Given the description of an element on the screen output the (x, y) to click on. 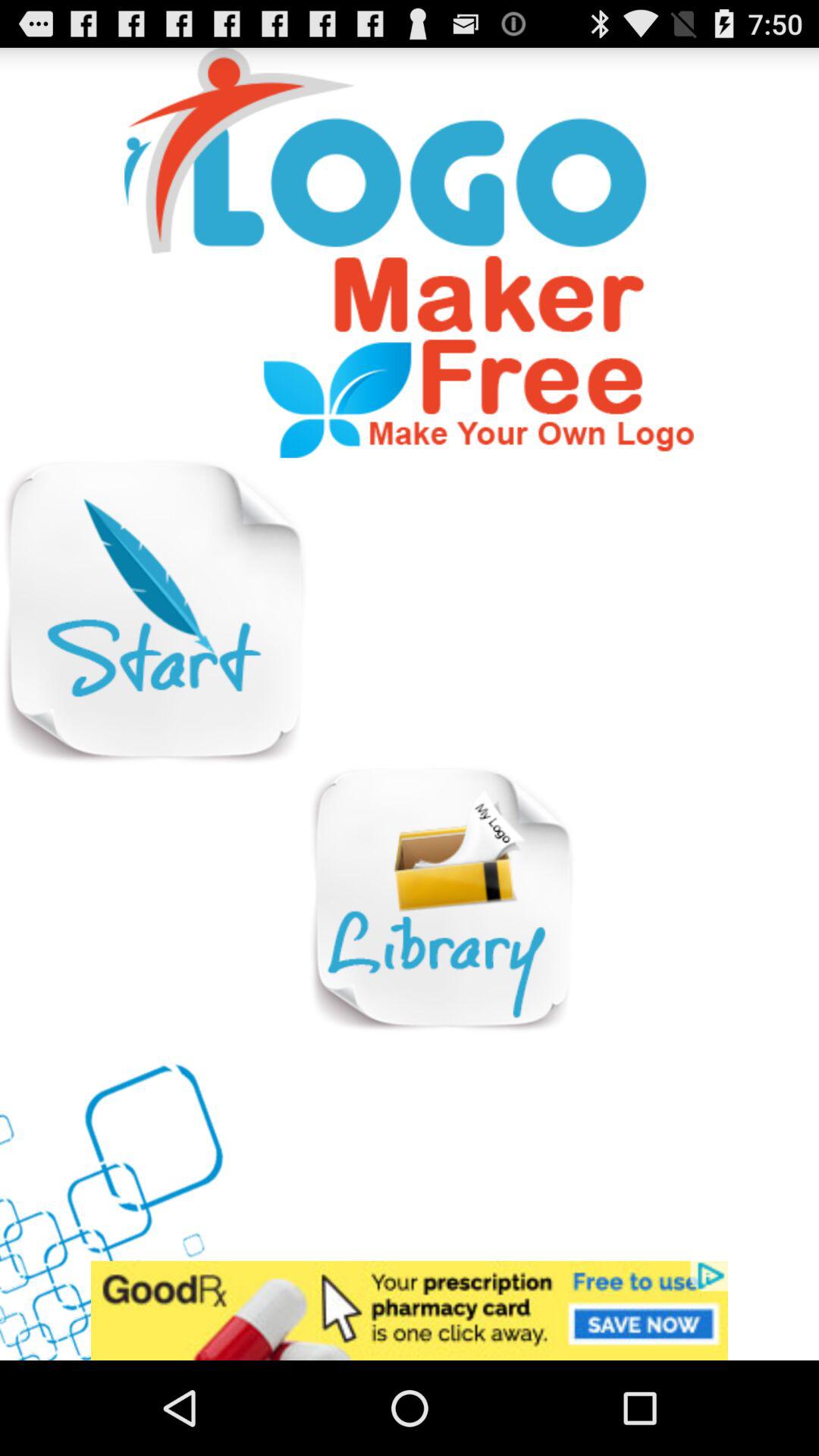
go to advertiser (409, 1310)
